Given the description of an element on the screen output the (x, y) to click on. 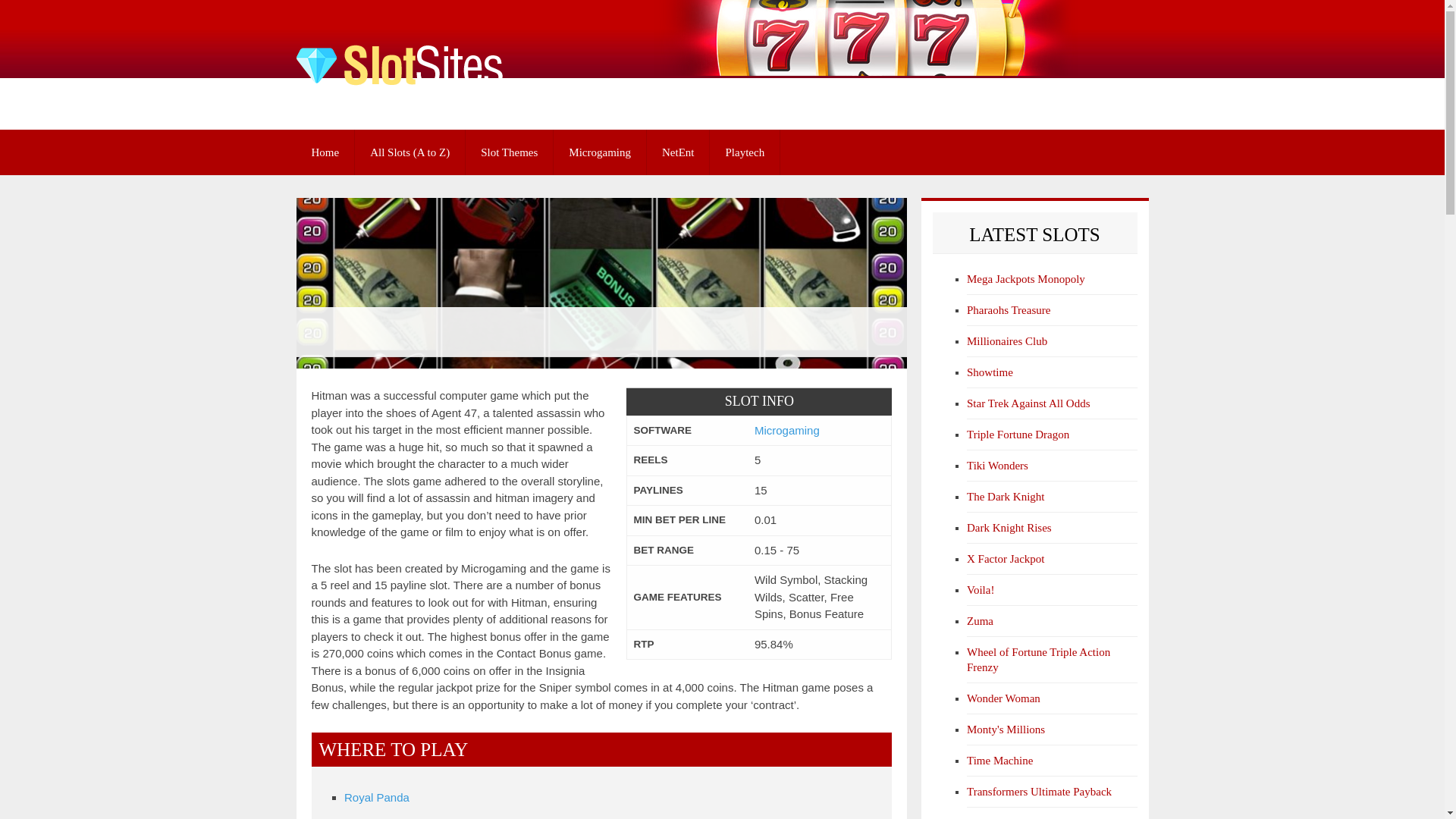
Microgaming (786, 430)
Home (324, 152)
Microgaming (599, 152)
Slot Themes (509, 152)
Playtech (744, 152)
NetEnt (678, 152)
Royal Panda (376, 797)
